Given the description of an element on the screen output the (x, y) to click on. 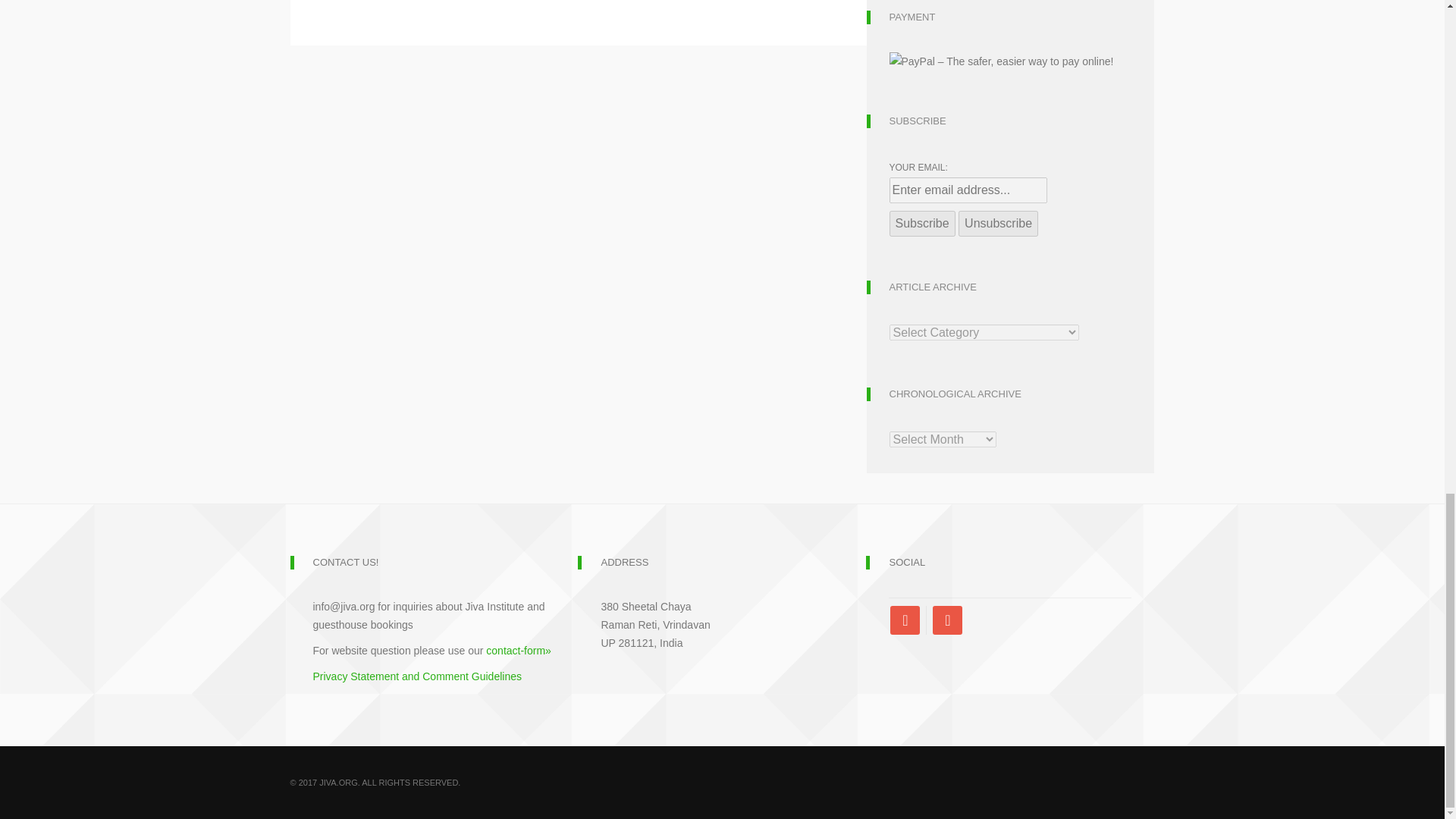
Subscribe (921, 223)
Youtube (947, 620)
Facebook (907, 620)
Unsubscribe (998, 223)
Enter email address... (967, 190)
